Given the description of an element on the screen output the (x, y) to click on. 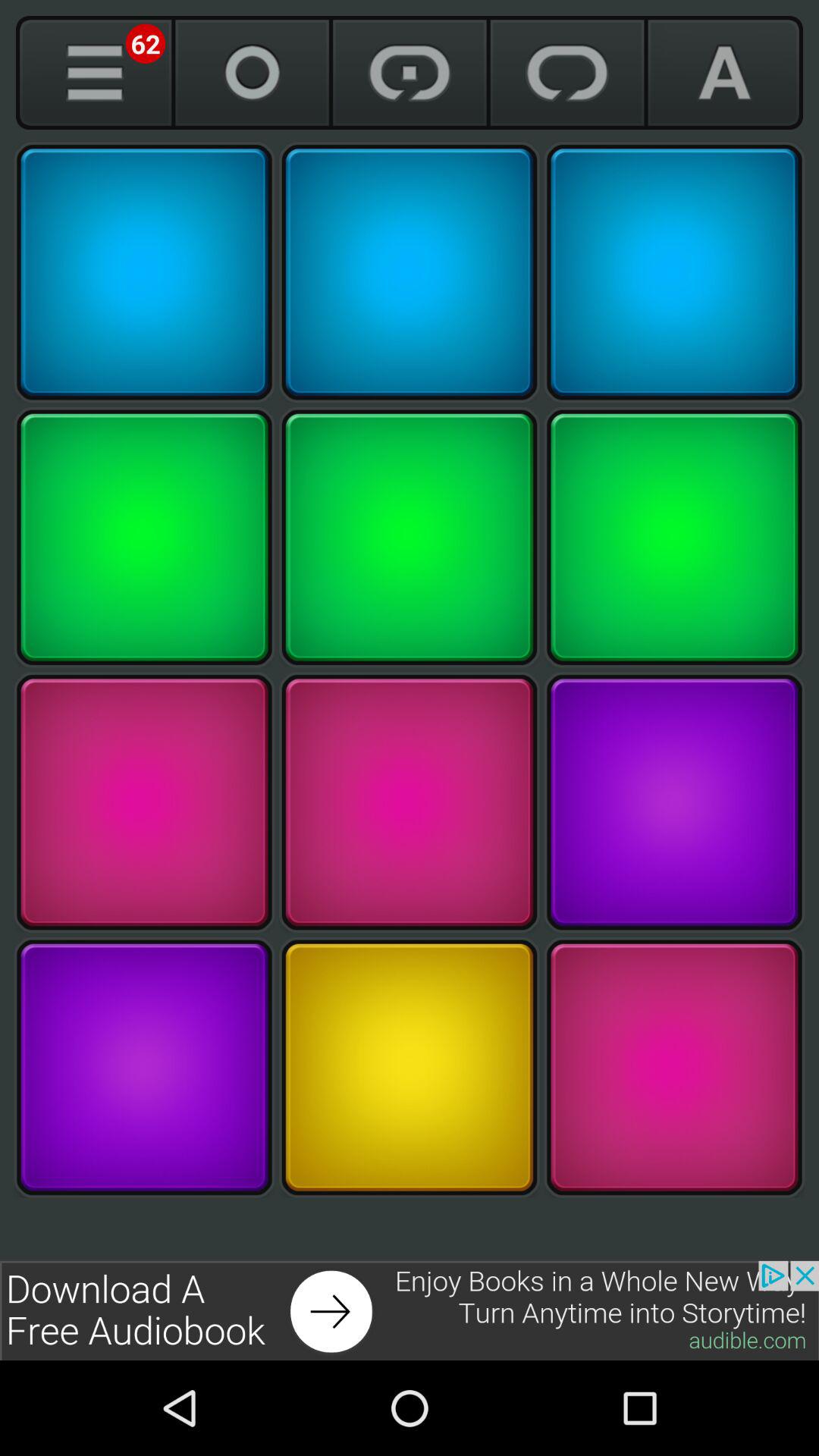
click the grid (144, 1067)
